Given the description of an element on the screen output the (x, y) to click on. 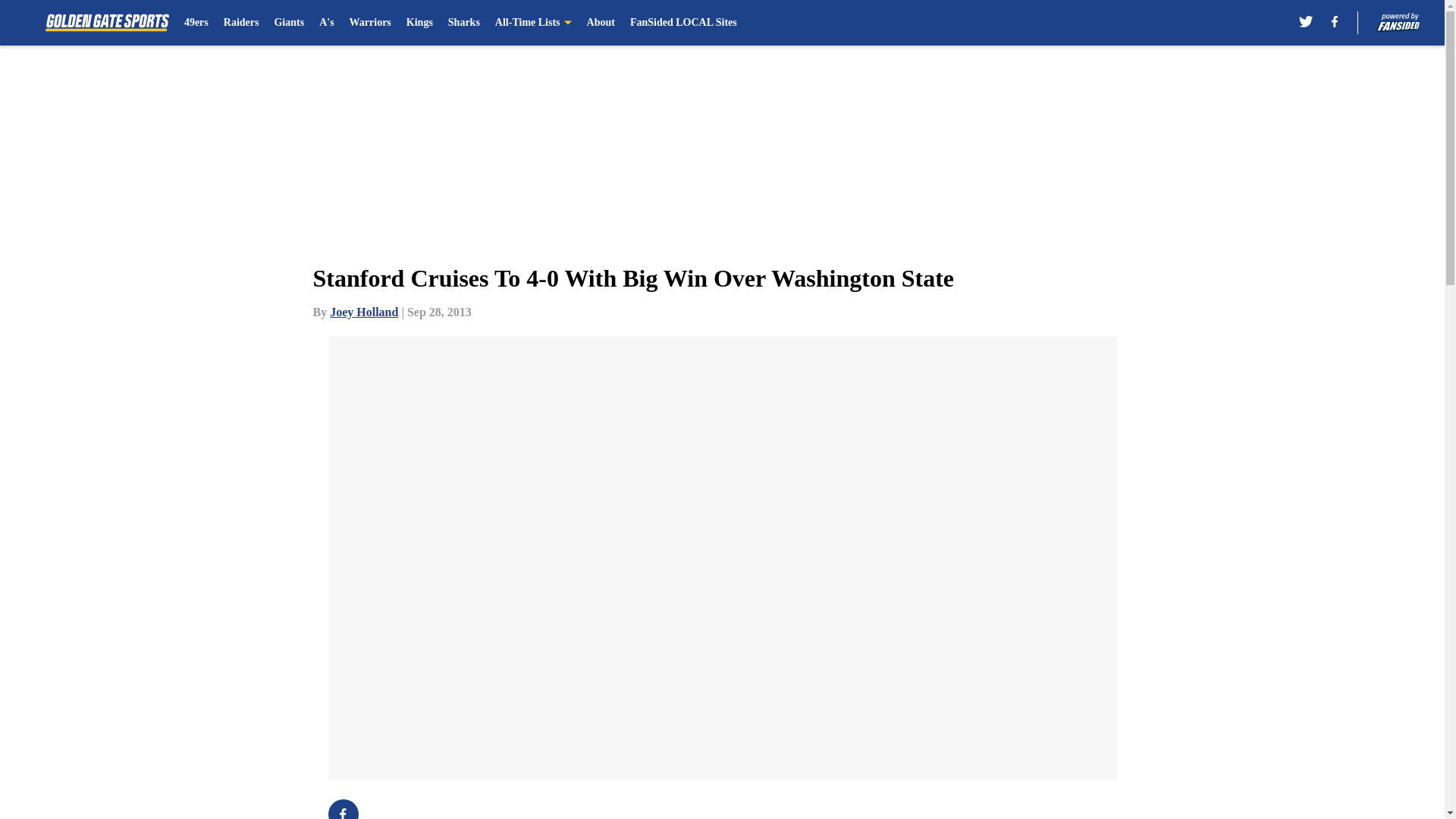
Warriors (370, 22)
A's (325, 22)
About (600, 22)
FanSided LOCAL Sites (683, 22)
Raiders (241, 22)
Kings (419, 22)
49ers (196, 22)
Sharks (464, 22)
Giants (288, 22)
Joey Holland (363, 311)
